Given the description of an element on the screen output the (x, y) to click on. 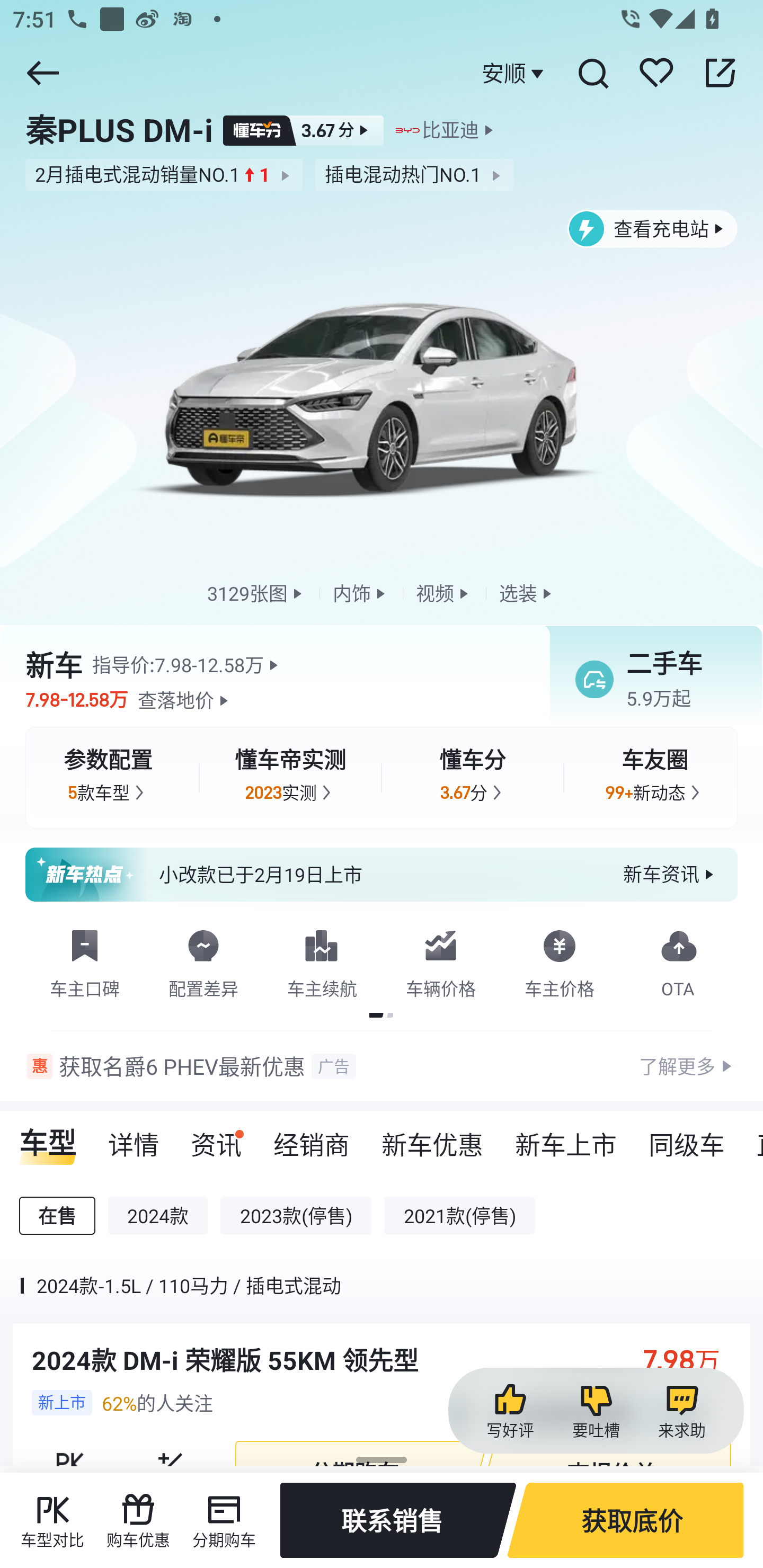
 (42, 72)
 (592, 72)
 (720, 72)
安顺 (514, 73)
比亚迪 (450, 130)
2月插电式混动销量NO.11  (163, 174)
插电混动热门NO.1  (414, 174)
查看充电站  (652, 228)
3129张图 (256, 592)
内饰 (360, 592)
视频 (444, 592)
选装 (527, 592)
二手车 5.9万起 (650, 679)
指导价:7.98-12.58万 (187, 664)
查落地价 (185, 699)
参数配置 5 款车型  (107, 777)
懂车帝实测 2023 实测  (290, 777)
懂车分 3.67 分  (472, 777)
车友圈 99+ 新动态  (654, 777)
小改款已于2月19日上市 新车资讯 (381, 874)
车主口碑 (84, 960)
配置差异 (203, 960)
车主续航 (321, 960)
车辆价格 (440, 960)
车主价格 (559, 960)
OTA (677, 960)
惠 获取名爵6 PHEV最新优惠 广告 了解更多  (381, 1065)
车型 (47, 1138)
详情 (133, 1138)
资讯 (215, 1138)
经销商 (311, 1138)
新车优惠 (431, 1138)
新车上市 (565, 1138)
同级车 (686, 1138)
在售 (57, 1215)
2024款 (157, 1215)
2023款(停售) (295, 1215)
2021款(停售) (458, 1215)
7.98 万 (690, 1359)
写好评 (510, 1410)
要吐槽 (595, 1410)
来求助 (681, 1410)
车型对比 (52, 1520)
购车优惠 (138, 1520)
分期购车 (224, 1520)
联系销售 (398, 1519)
获取底价 (625, 1519)
